Given the description of an element on the screen output the (x, y) to click on. 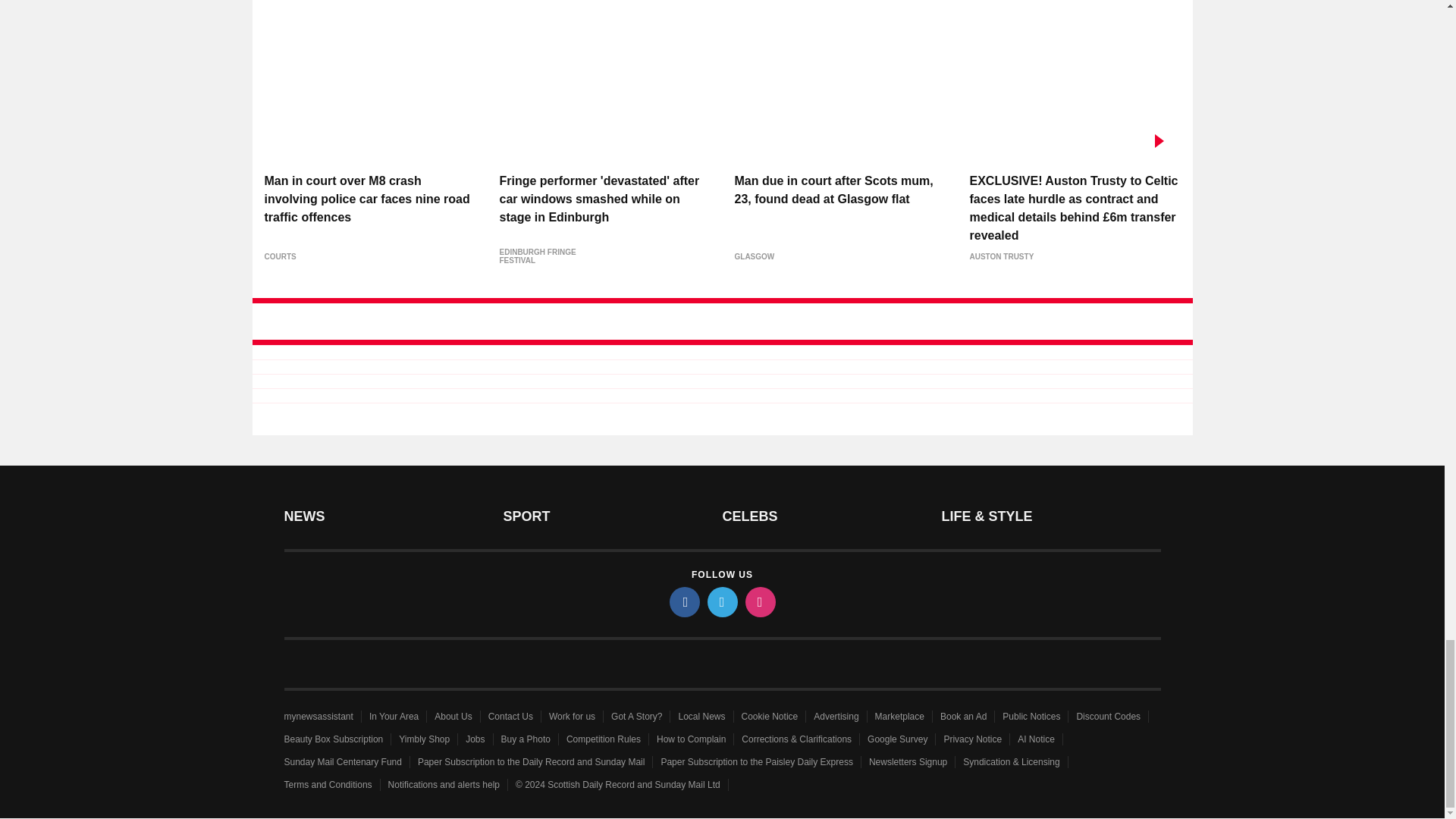
twitter (721, 602)
facebook (683, 602)
instagram (759, 602)
